Given the description of an element on the screen output the (x, y) to click on. 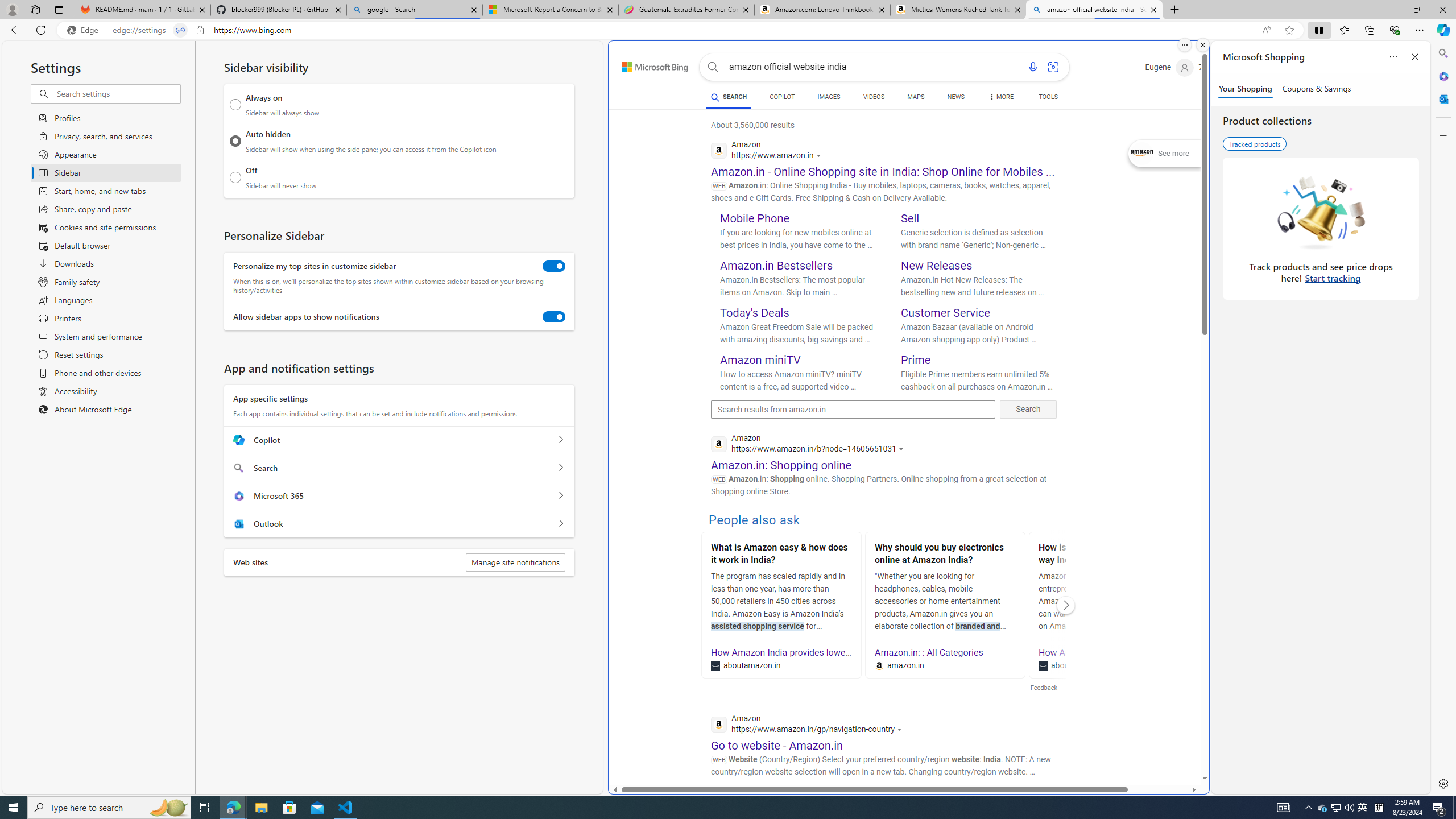
COPILOT (781, 96)
Close split screen. (1202, 45)
COPILOT (781, 98)
Sell (910, 218)
Copilot (560, 439)
Off Sidebar will never show (235, 177)
Search settings (117, 93)
